Given the description of an element on the screen output the (x, y) to click on. 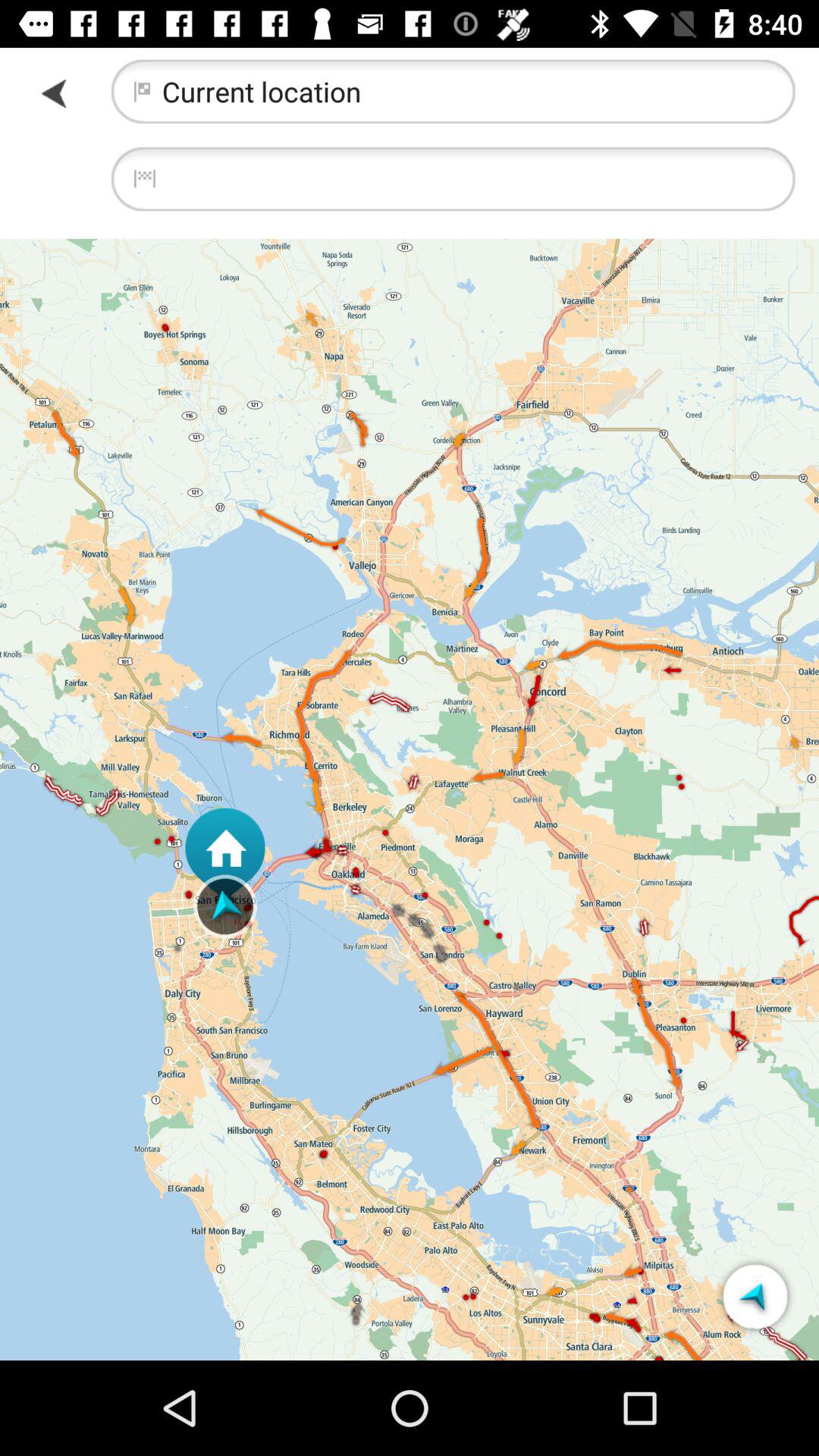
forword (55, 92)
